Given the description of an element on the screen output the (x, y) to click on. 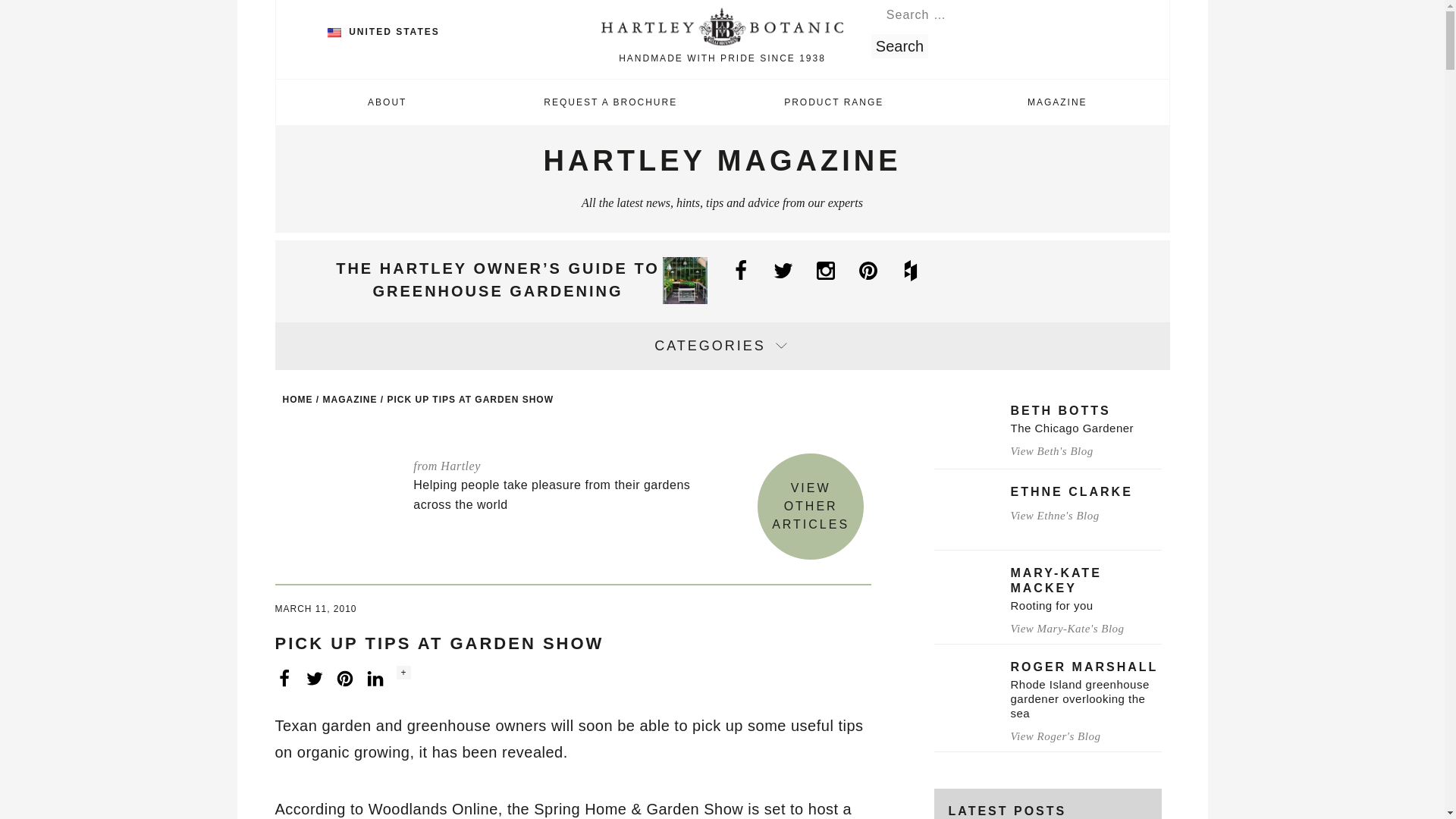
REQUEST A BROCHURE (610, 102)
United States (333, 31)
Search (899, 46)
Search (899, 46)
PRODUCT RANGE (833, 102)
Search (899, 46)
  UNITED STATES (383, 31)
HANDMADE WITH PRIDE SINCE 1938 (722, 38)
ABOUT (387, 102)
